Given the description of an element on the screen output the (x, y) to click on. 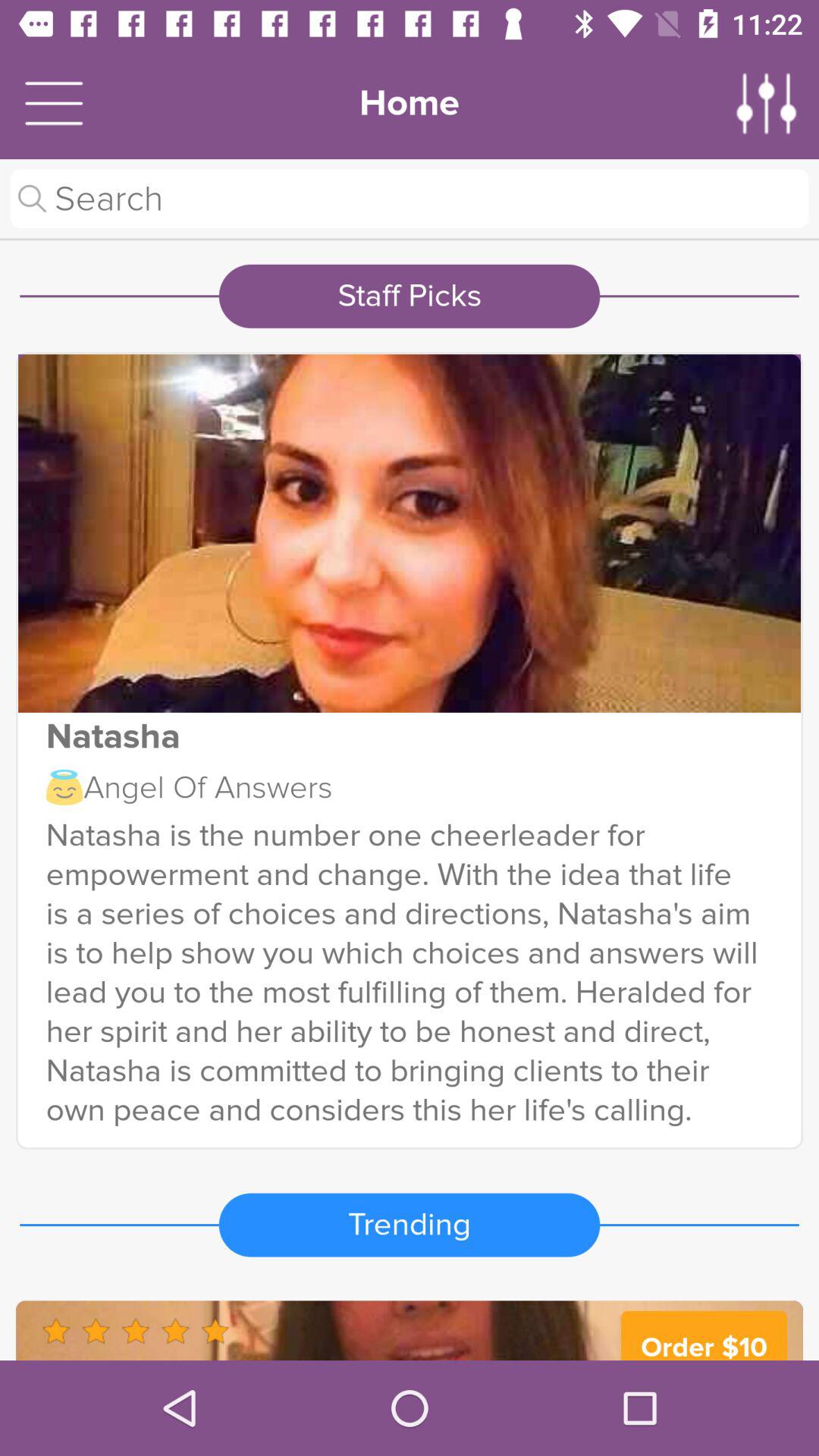
order (409, 1330)
